Given the description of an element on the screen output the (x, y) to click on. 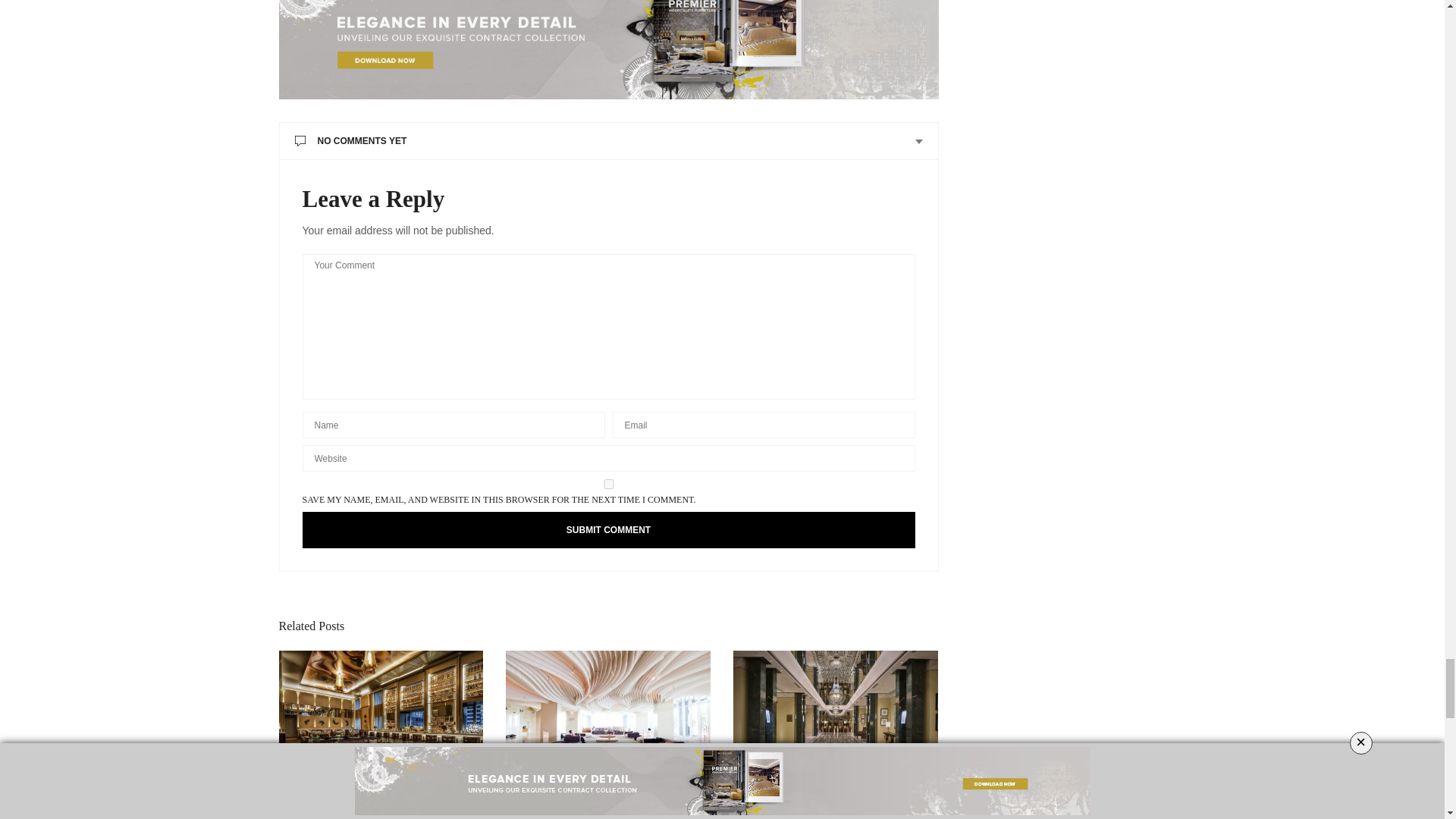
Submit Comment (607, 529)
yes (607, 483)
